Given the description of an element on the screen output the (x, y) to click on. 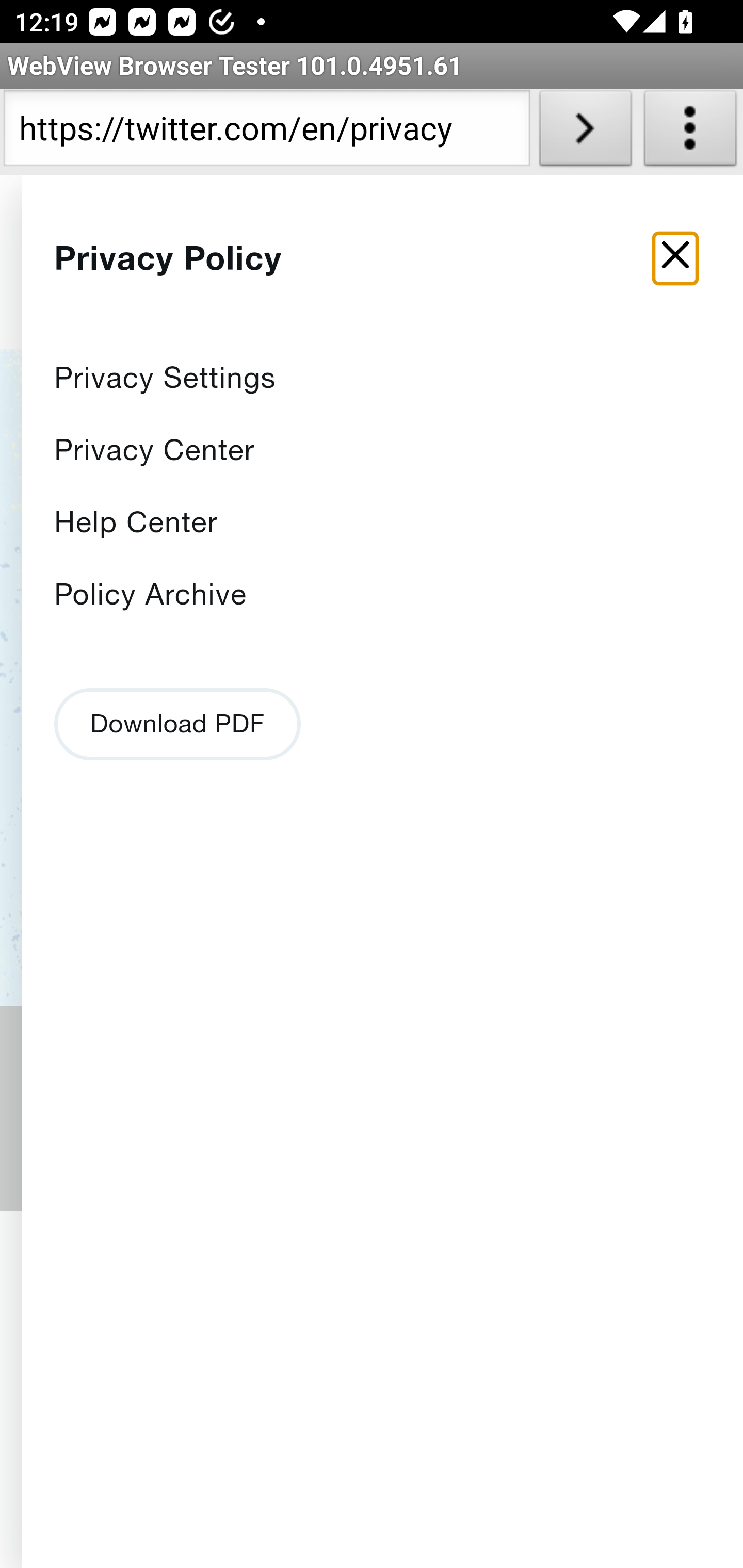
https://twitter.com/en/privacy (266, 132)
Load URL (585, 132)
About WebView (690, 132)
Close menu (675, 259)
Privacy Policy home (222, 272)
Privacy Settings (165, 377)
Privacy Center (155, 448)
Help Center (136, 521)
Policy Archive (150, 593)
